Given the description of an element on the screen output the (x, y) to click on. 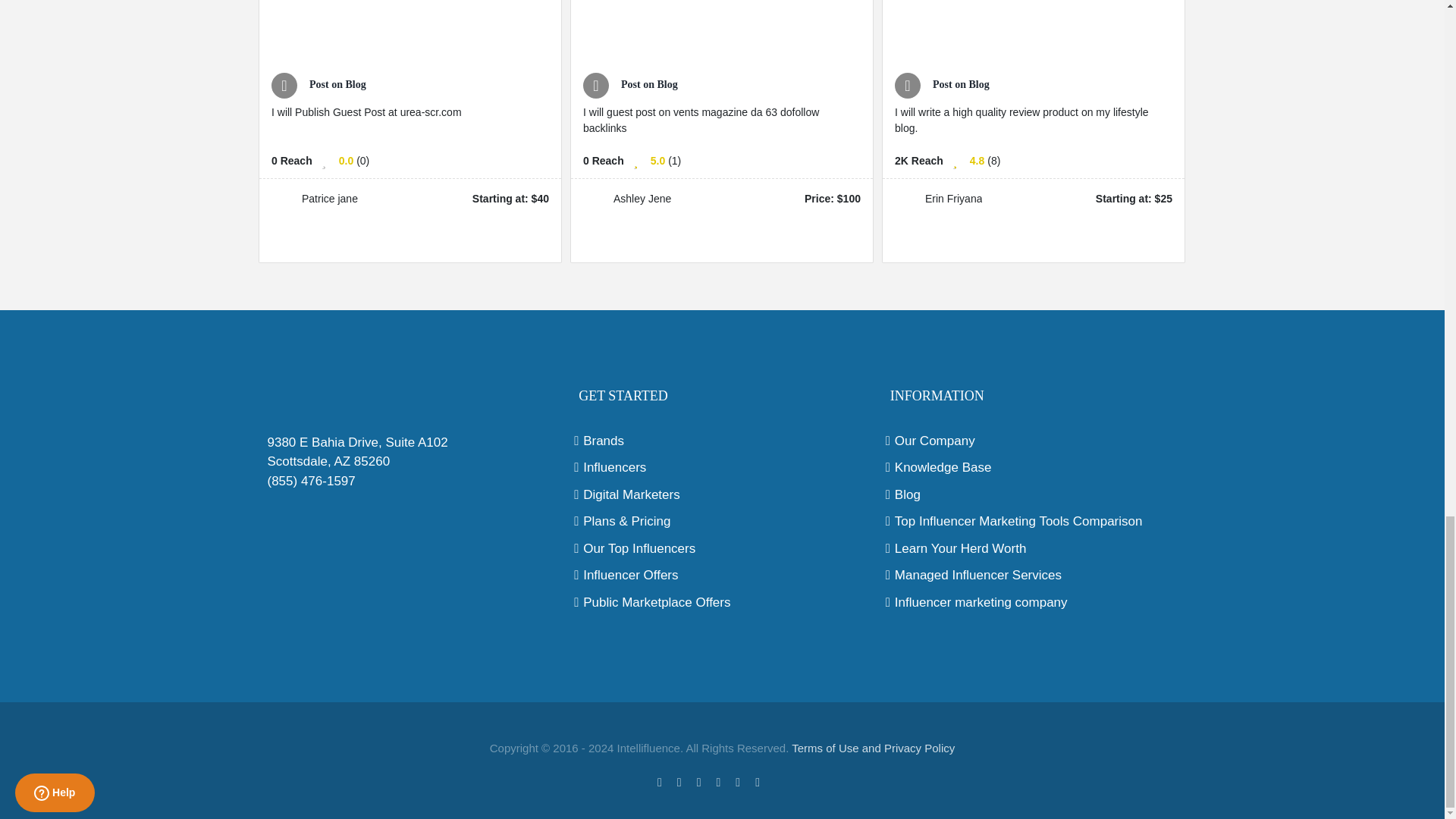
Blog (1034, 495)
Pinterest (718, 782)
Brands (722, 441)
Number of reviews (993, 160)
Our Top Influencers (722, 548)
Star rating out of 5 (976, 160)
Knowledge Base (1034, 467)
Number of reviews (674, 160)
Instagram (699, 782)
Pinterest (718, 782)
Facebook (660, 782)
Our Company (1034, 441)
Learn Your Herd Worth (1034, 548)
YouTube (737, 782)
Digital Marketers (722, 495)
